Given the description of an element on the screen output the (x, y) to click on. 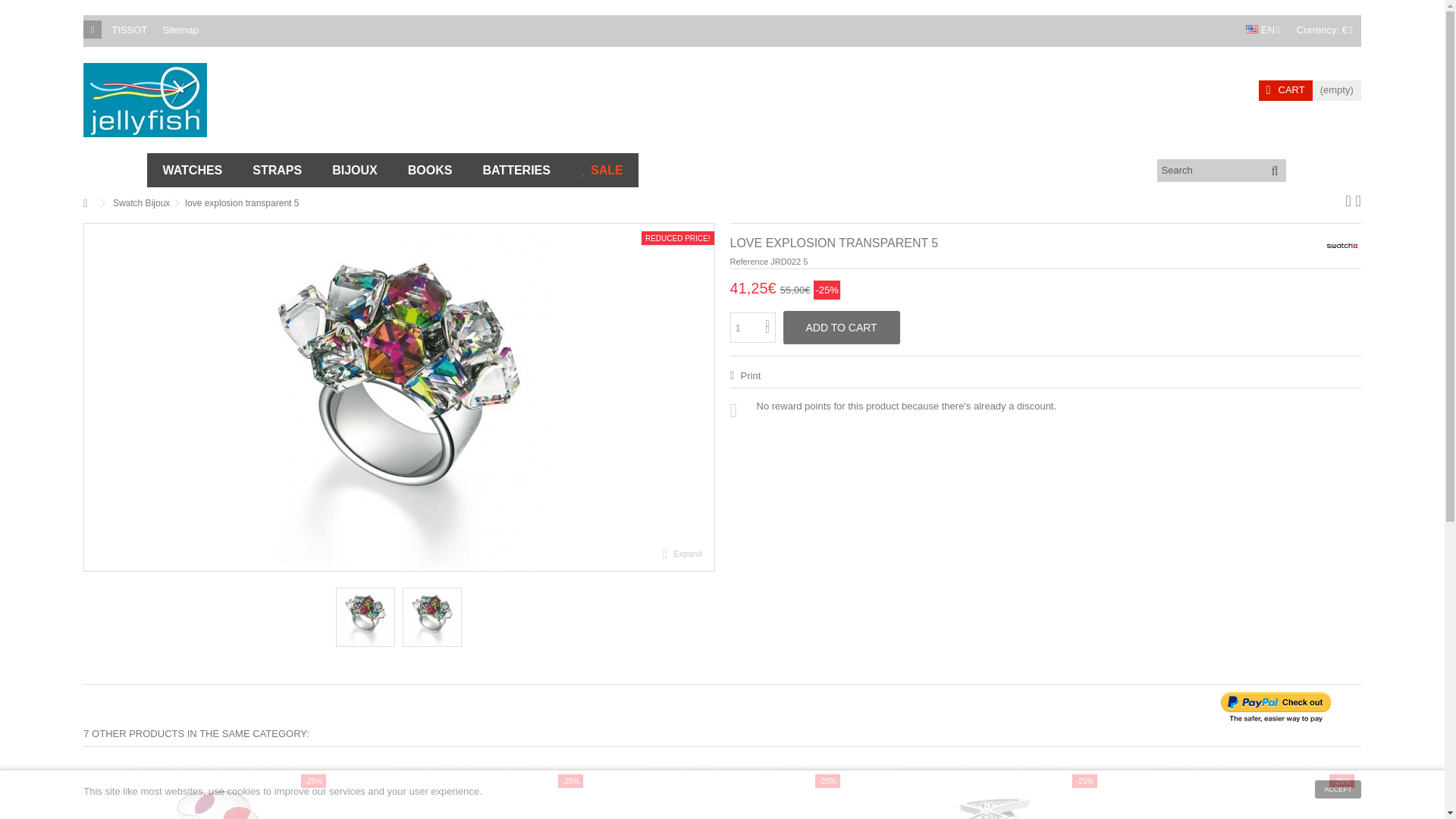
1 (751, 327)
